Given the description of an element on the screen output the (x, y) to click on. 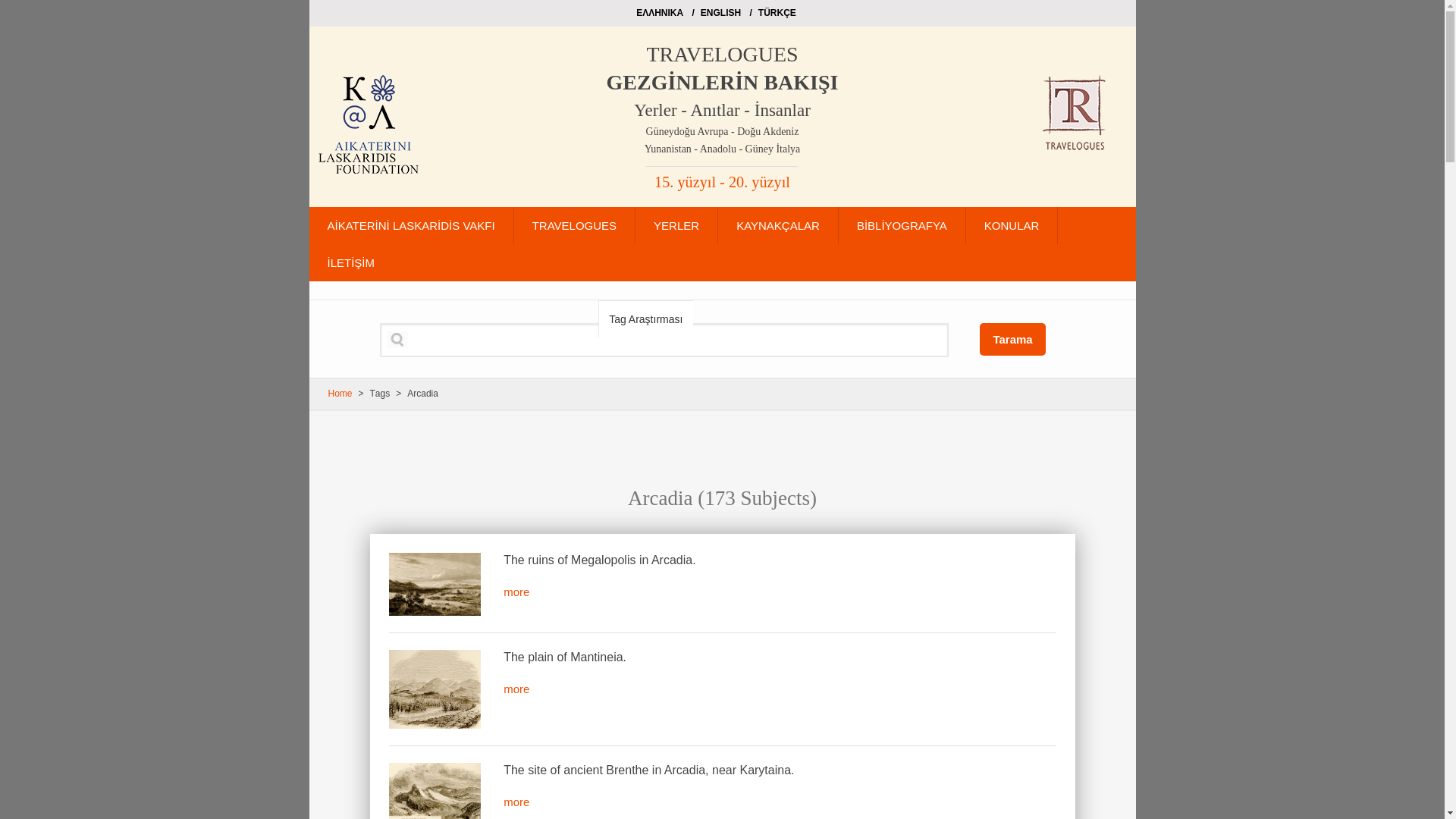
TRAVELOGUES (573, 225)
KONULAR (1012, 225)
YERLER (675, 225)
TRAVELOGUES (721, 53)
